Given the description of an element on the screen output the (x, y) to click on. 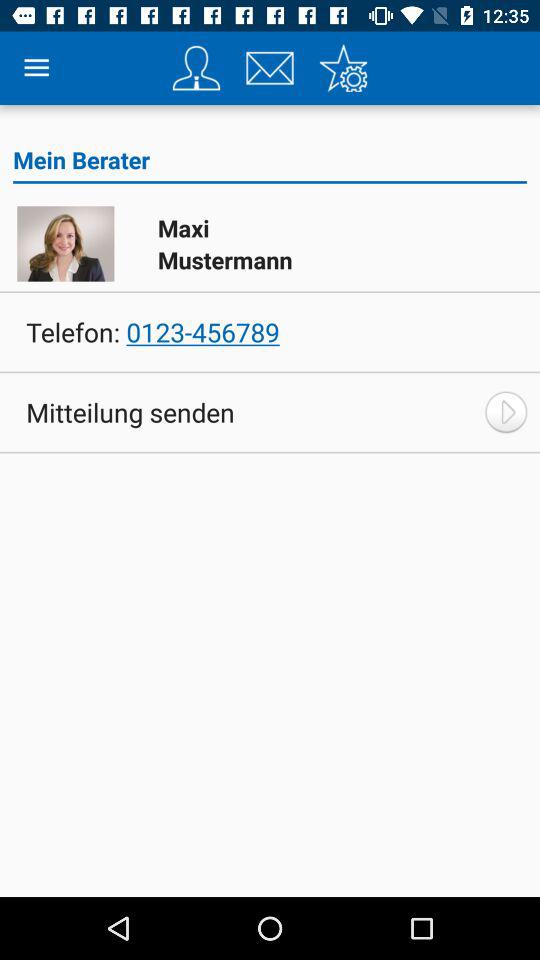
go to settings (343, 67)
